Given the description of an element on the screen output the (x, y) to click on. 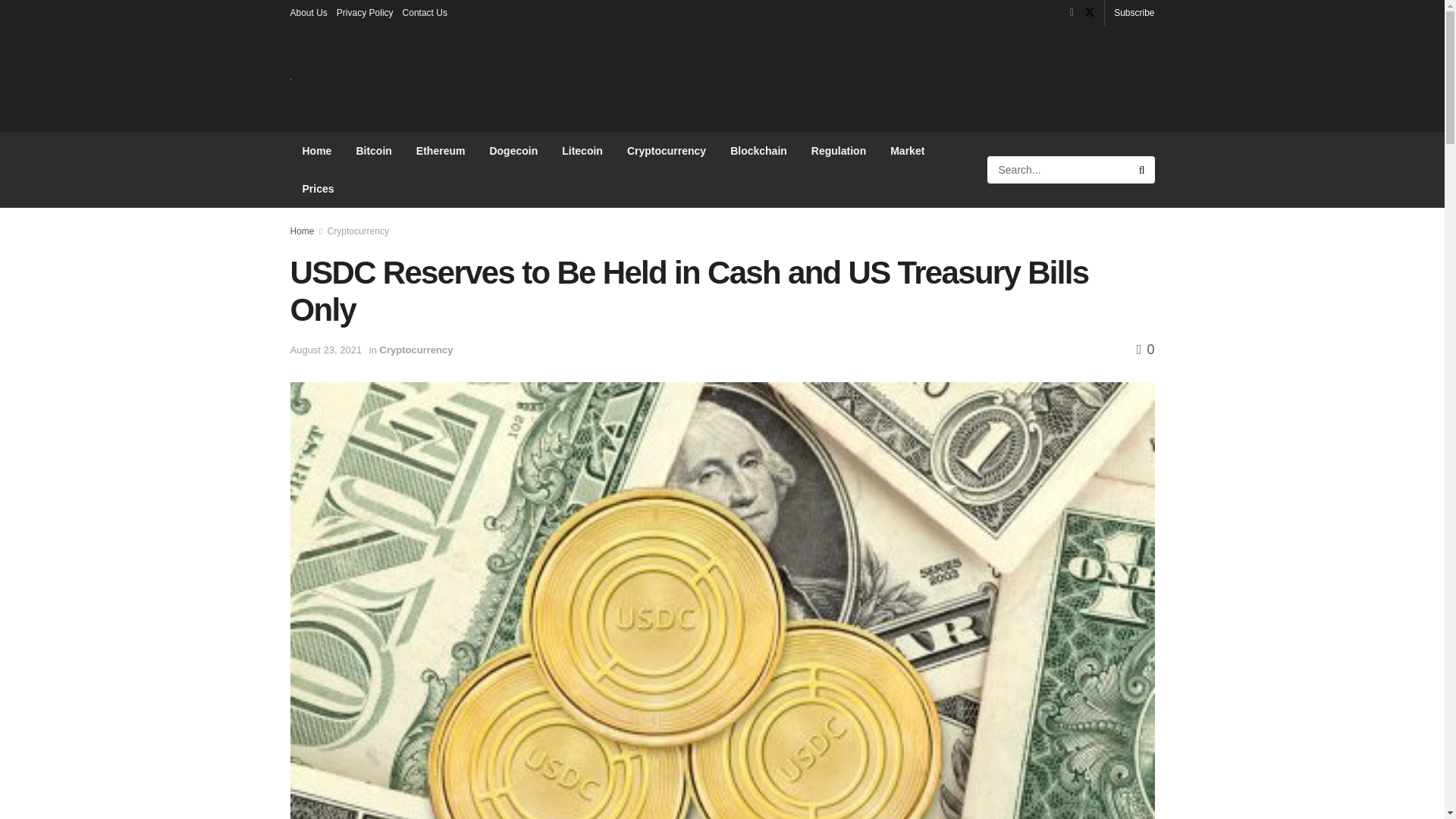
About Us (307, 12)
Home (316, 150)
Blockchain (758, 150)
Dogecoin (513, 150)
Privacy Policy (364, 12)
Home (301, 231)
Regulation (838, 150)
Cryptocurrency (357, 231)
Prices (317, 188)
Cryptocurrency (416, 349)
